Given the description of an element on the screen output the (x, y) to click on. 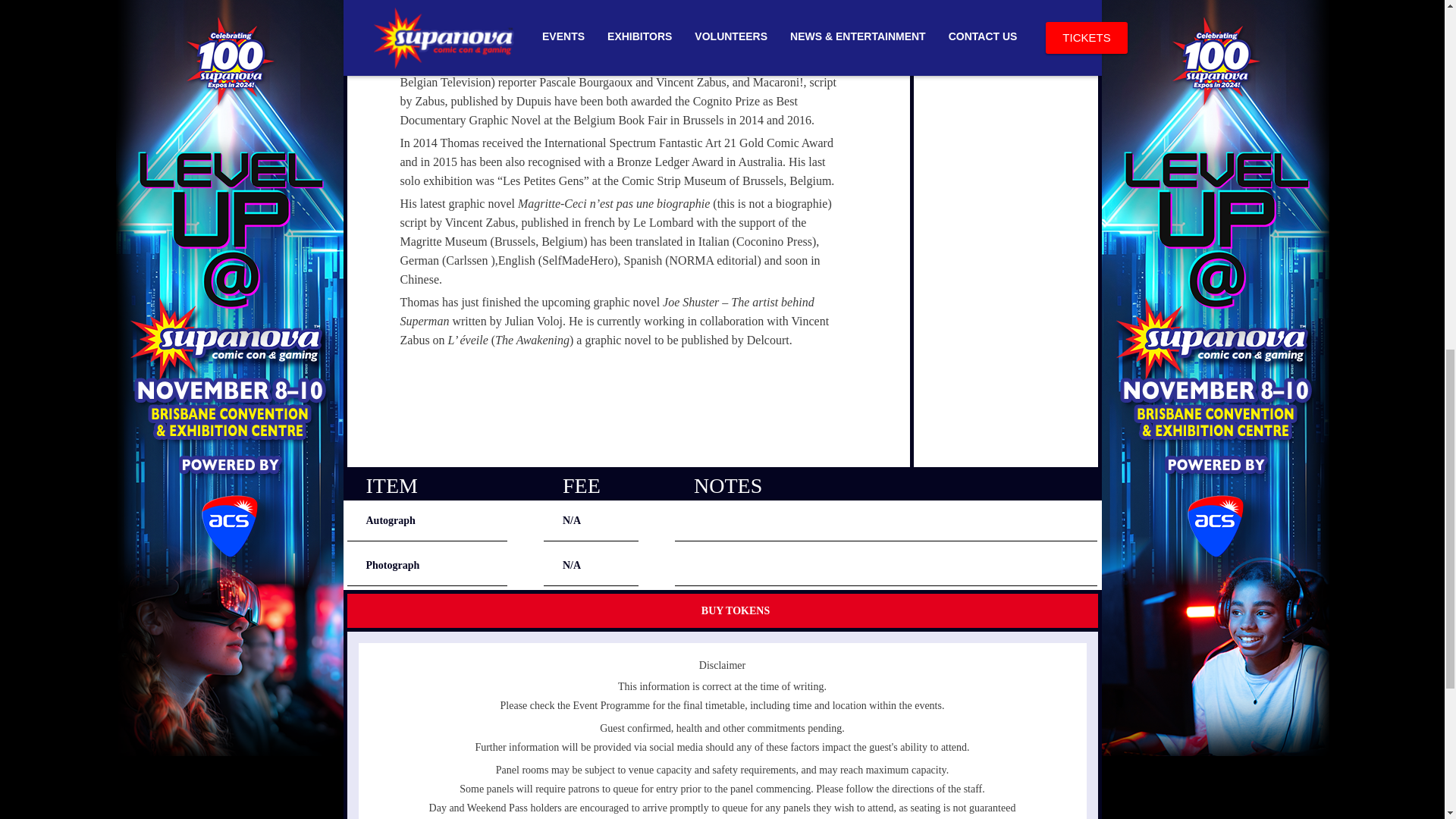
BUY TOKENS (722, 608)
Back to top (1411, 21)
